Given the description of an element on the screen output the (x, y) to click on. 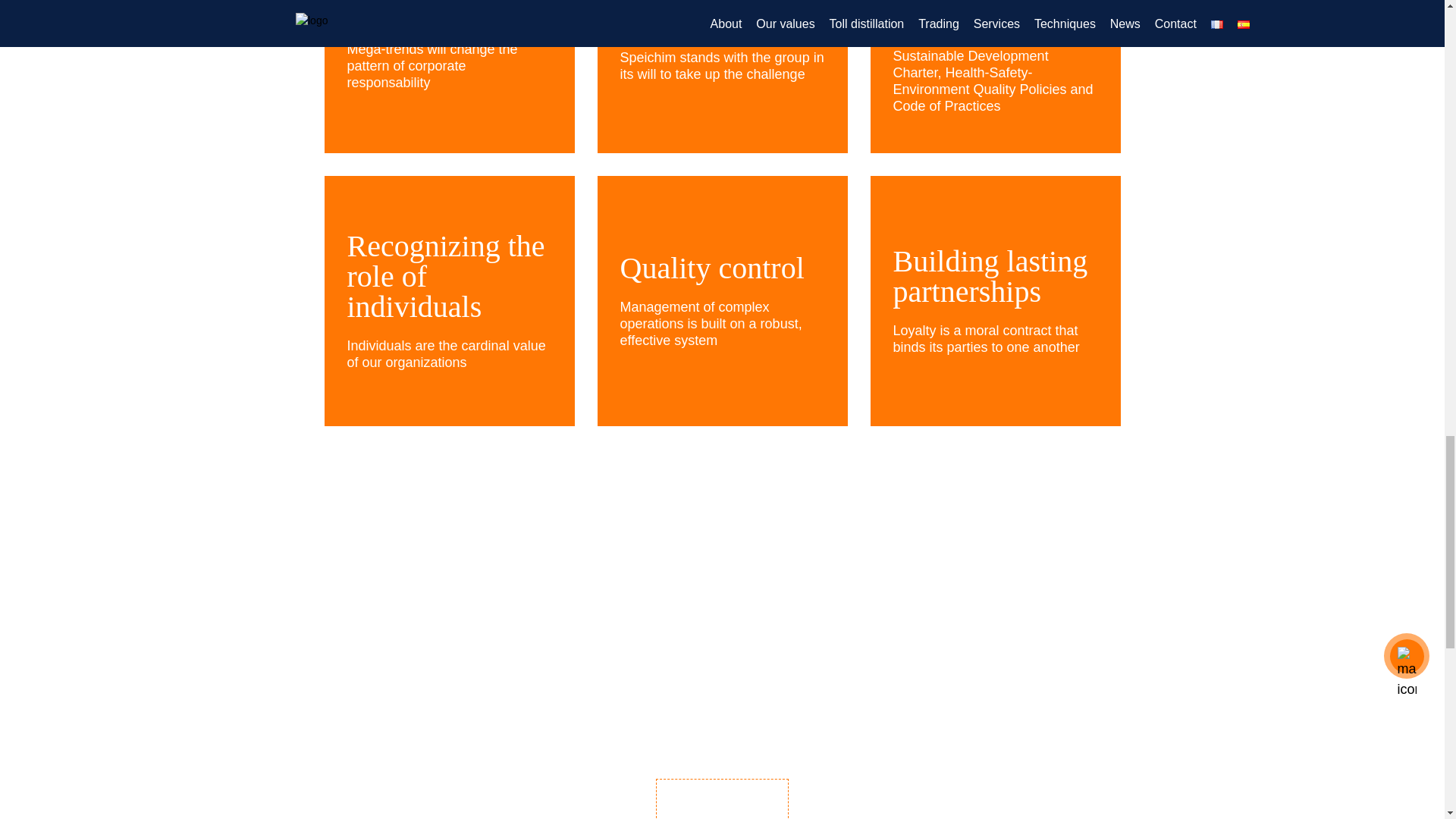
WRITE US (721, 798)
